Given the description of an element on the screen output the (x, y) to click on. 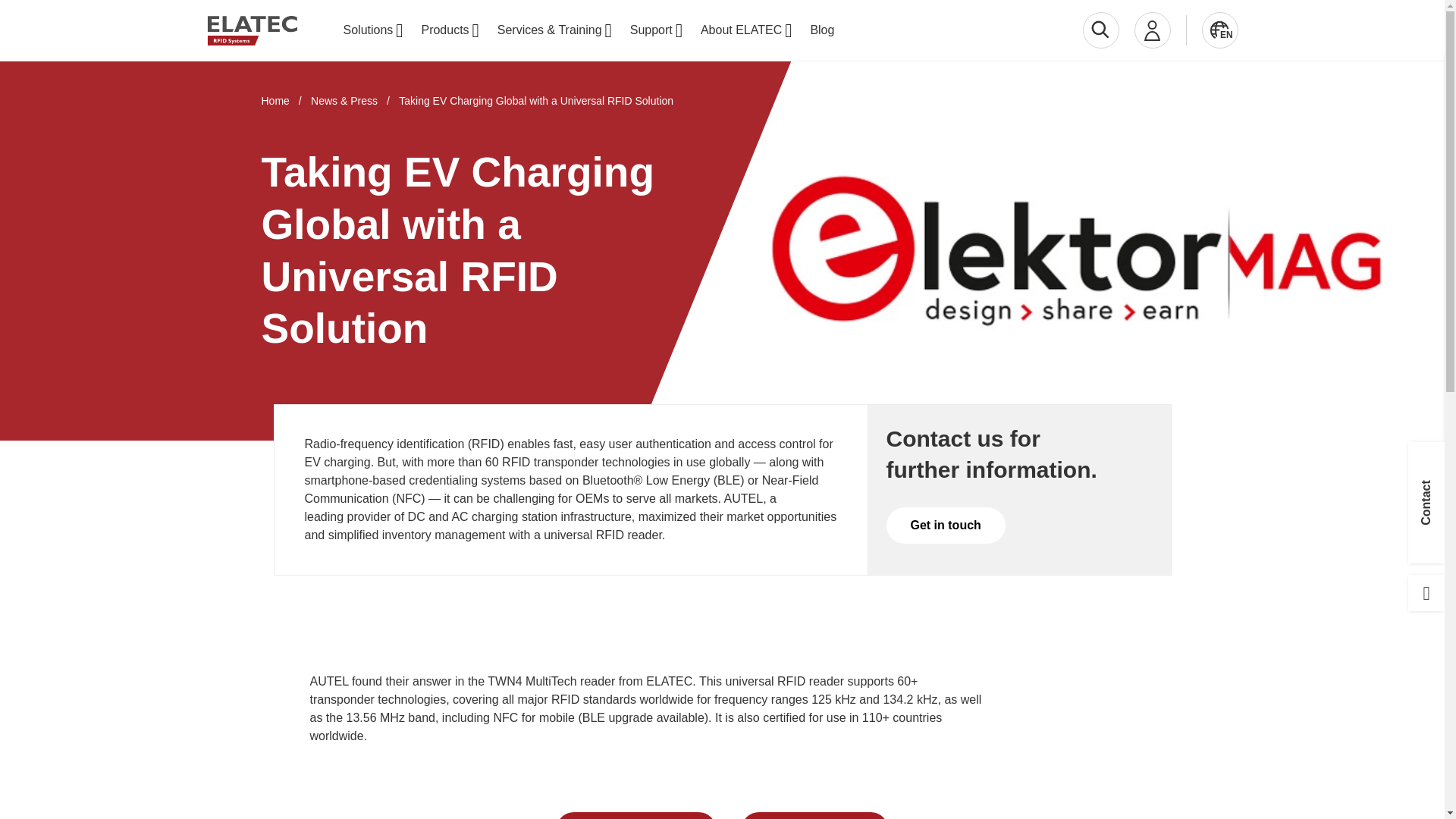
Products (449, 30)
Solutions (372, 30)
EN (1220, 30)
Go to home (251, 30)
